Given the description of an element on the screen output the (x, y) to click on. 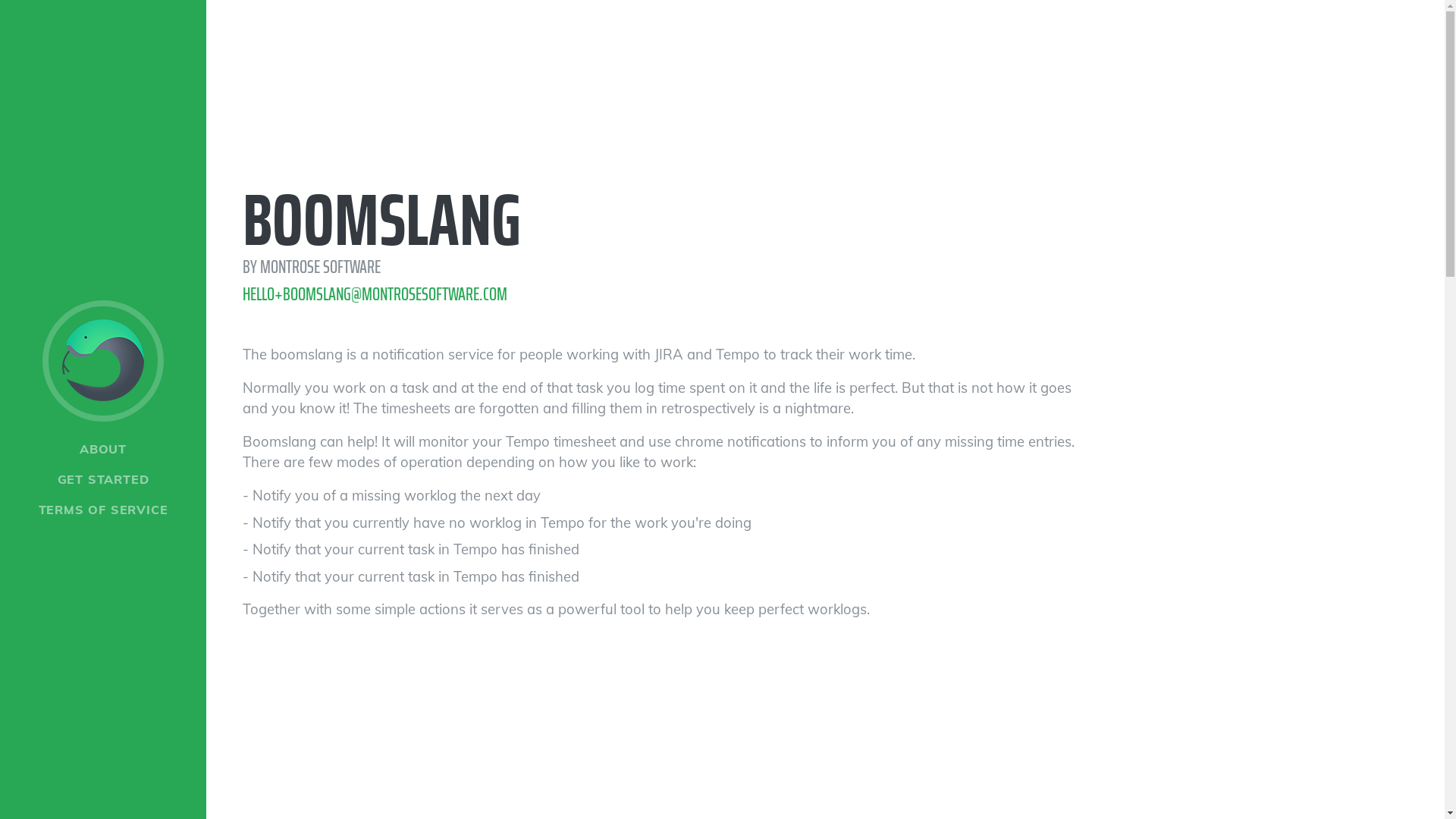
HELLO+BOOMSLANG@MONTROSESOFTWARE.COM Element type: text (374, 293)
TERMS OF SERVICE Element type: text (103, 509)
ABOUT Element type: text (103, 448)
GET STARTED Element type: text (103, 479)
